Given the description of an element on the screen output the (x, y) to click on. 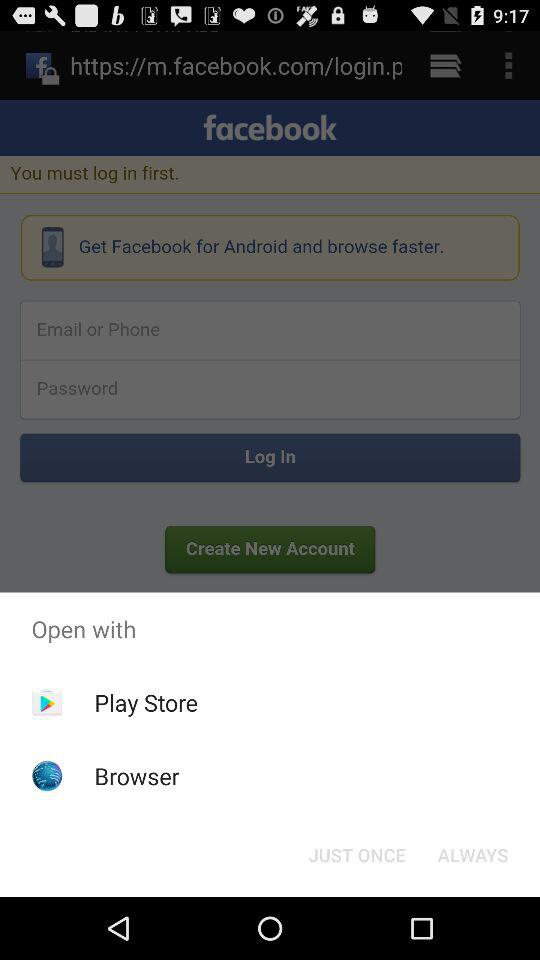
press app above the browser item (146, 702)
